Given the description of an element on the screen output the (x, y) to click on. 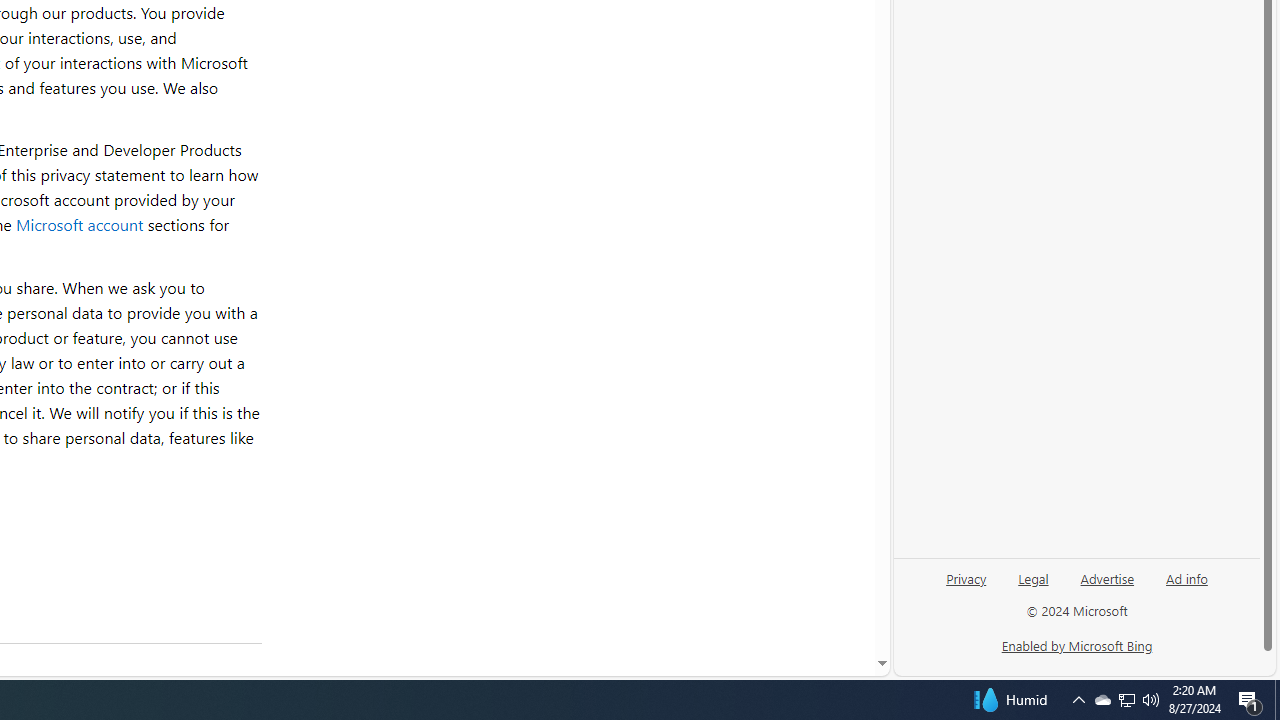
Microsoft account (79, 224)
